Given the description of an element on the screen output the (x, y) to click on. 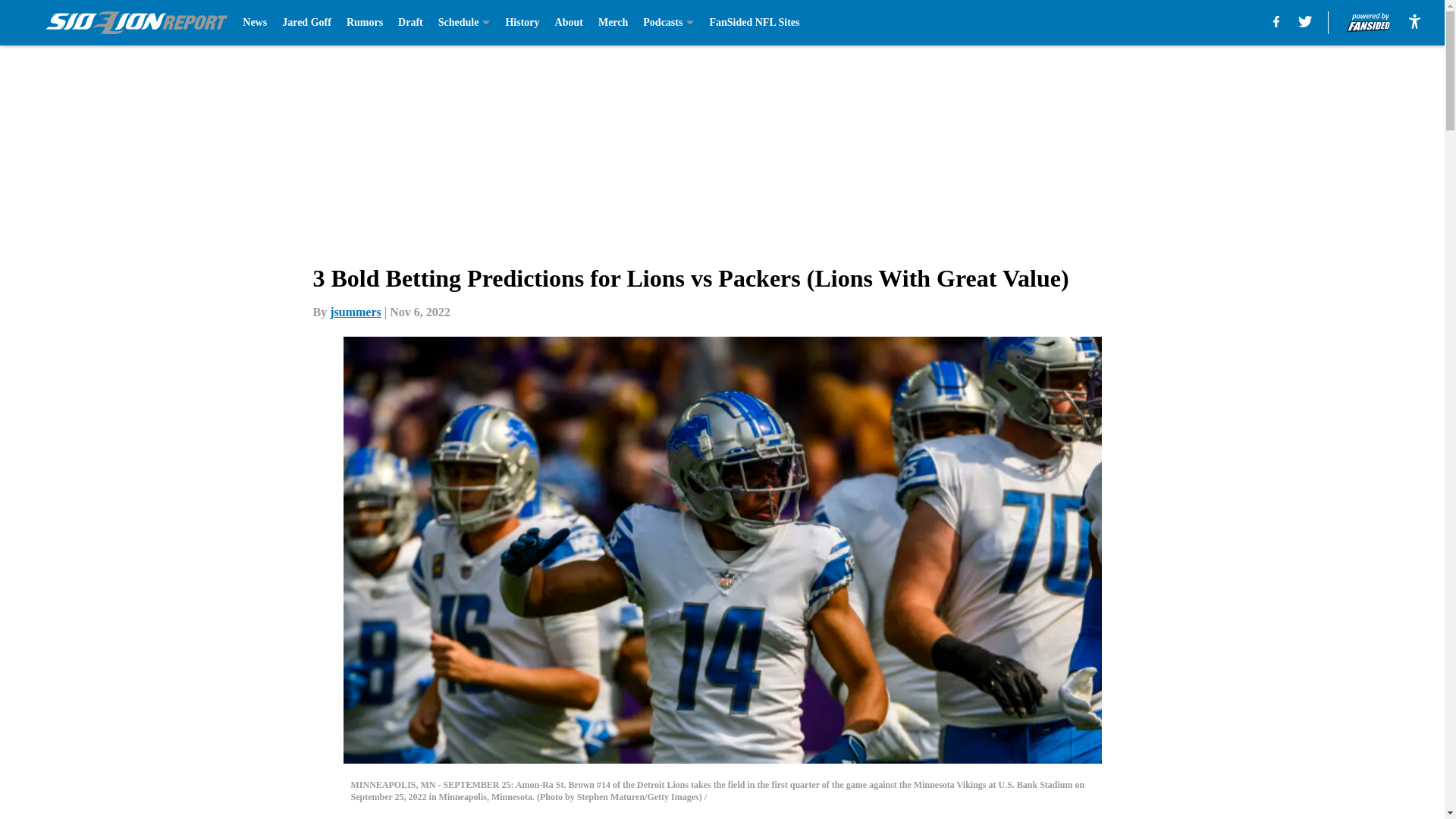
History (521, 22)
News (254, 22)
Draft (410, 22)
Jared Goff (306, 22)
FanSided NFL Sites (754, 22)
Rumors (364, 22)
About (568, 22)
Merch (612, 22)
jsummers (355, 311)
